Given the description of an element on the screen output the (x, y) to click on. 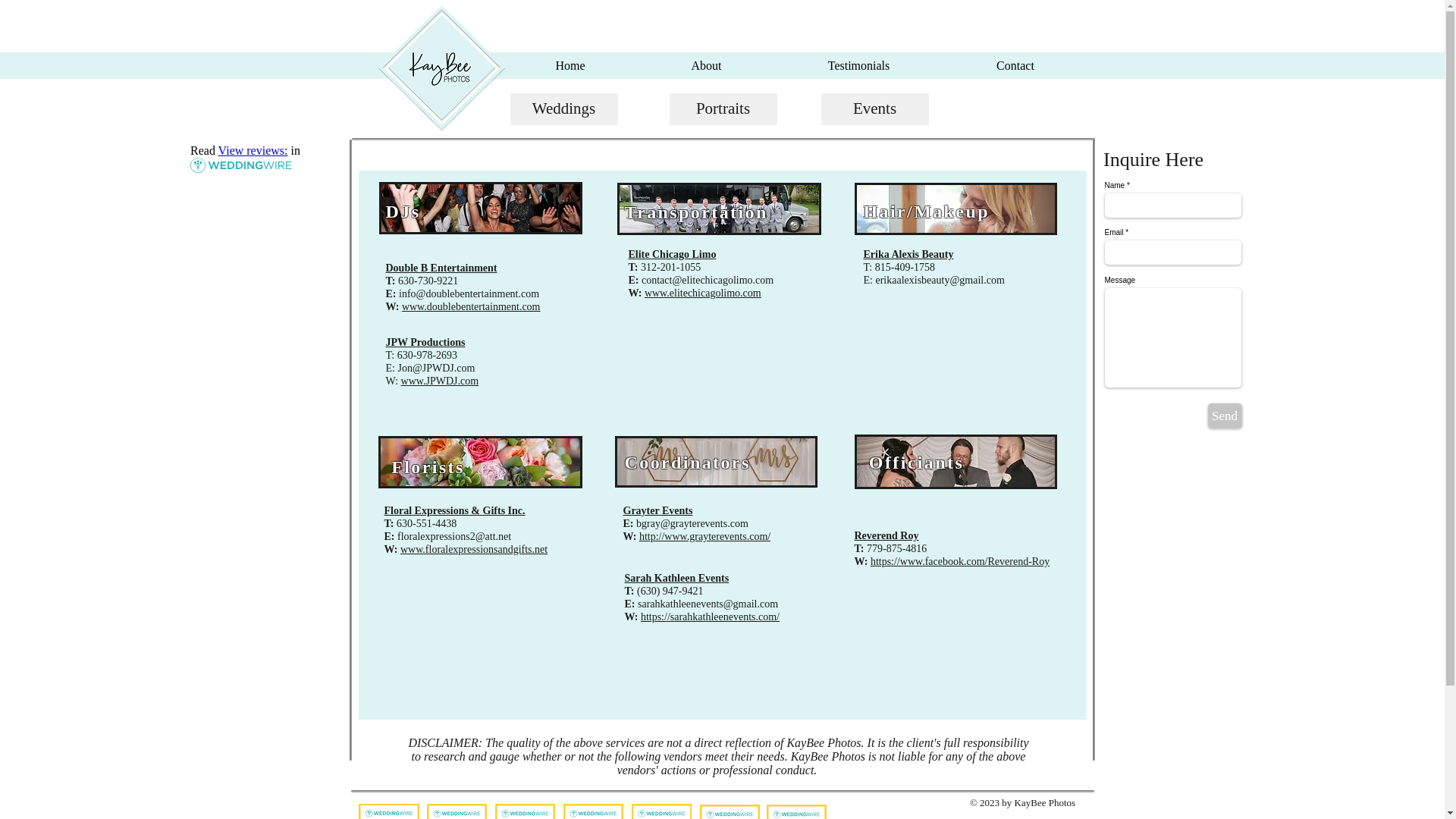
Testimonials (858, 65)
www.JPWDJ.com (440, 380)
Home (569, 65)
Events (874, 109)
About (706, 65)
www.elitechicagolimo.com (703, 292)
www.doublebentertainment.com (470, 306)
Contact (1015, 65)
ww.floralexpressionsandgifts.net (477, 549)
Portraits (722, 109)
Weddings (563, 109)
Send (1224, 415)
